Given the description of an element on the screen output the (x, y) to click on. 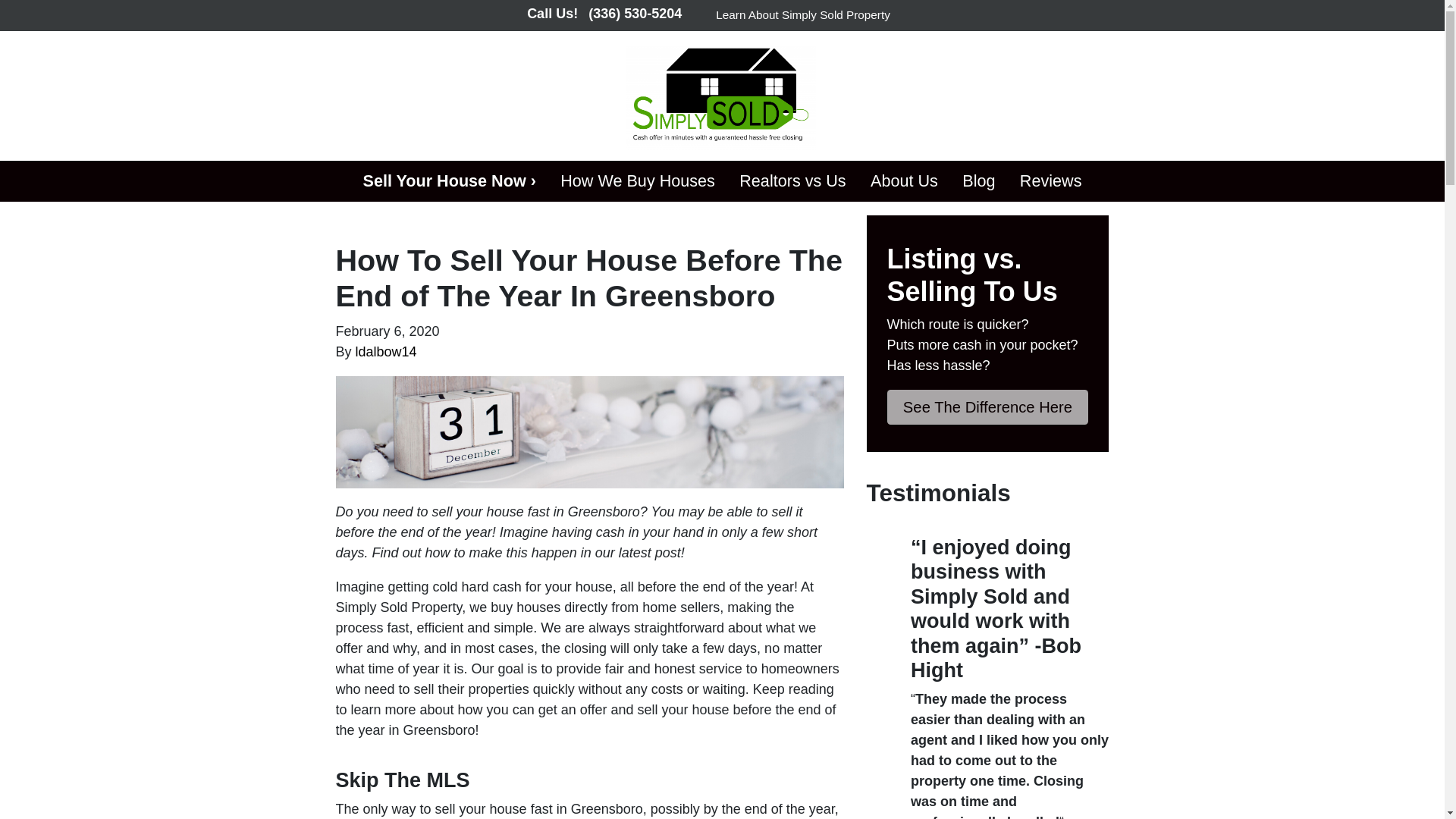
See The Difference Here (987, 407)
About Us (904, 180)
ldalbow14 (385, 351)
How We Buy Houses (637, 180)
About Us (904, 180)
Reviews (1050, 180)
Realtors vs Us (792, 180)
Blog (978, 180)
How We Buy Houses (637, 180)
Learn About Simply Sold Property (802, 15)
